Given the description of an element on the screen output the (x, y) to click on. 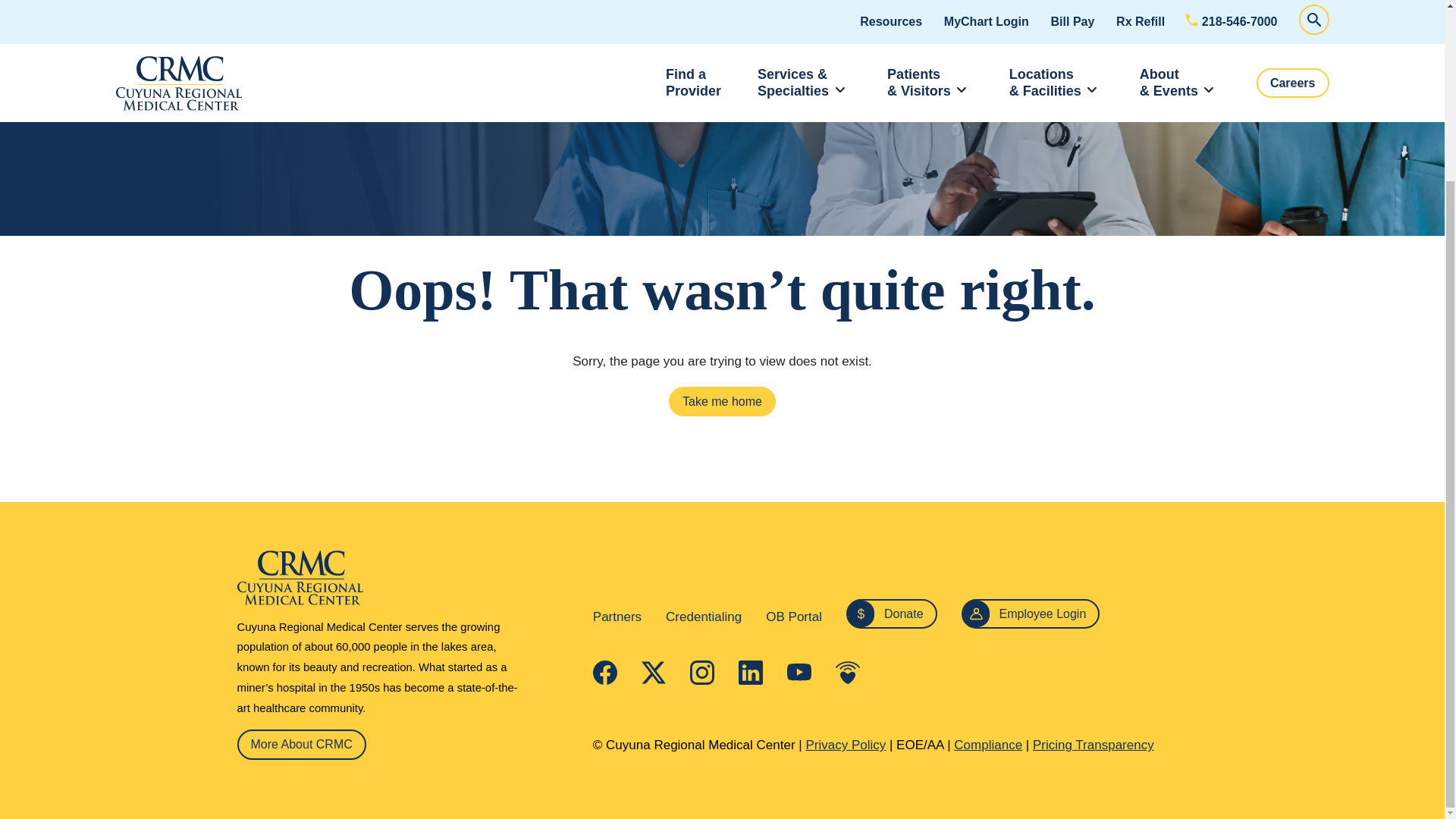
YouTube (798, 672)
Linked In (750, 672)
SafeBuilt (389, 577)
Caring Bridge (847, 672)
Facebook (604, 672)
Instagram (702, 672)
